Given the description of an element on the screen output the (x, y) to click on. 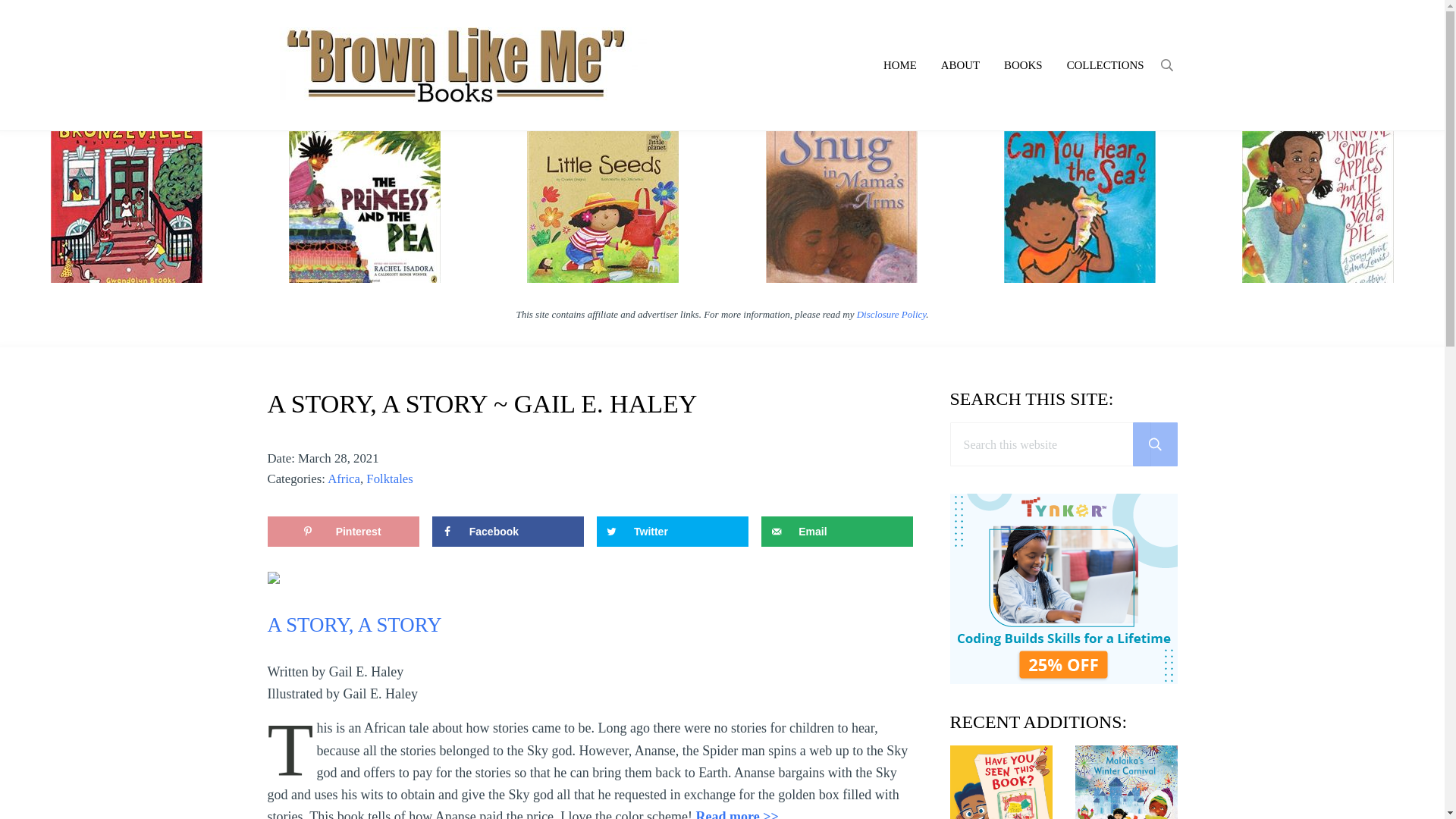
A STORY, A STORY (353, 624)
BOOKS (1022, 64)
Pinterest (342, 531)
COLLECTIONS (1105, 64)
HOME (899, 64)
Email (836, 531)
Twitter (672, 531)
Facebook (507, 531)
Africa (343, 478)
Save to Pinterest (342, 531)
